Given the description of an element on the screen output the (x, y) to click on. 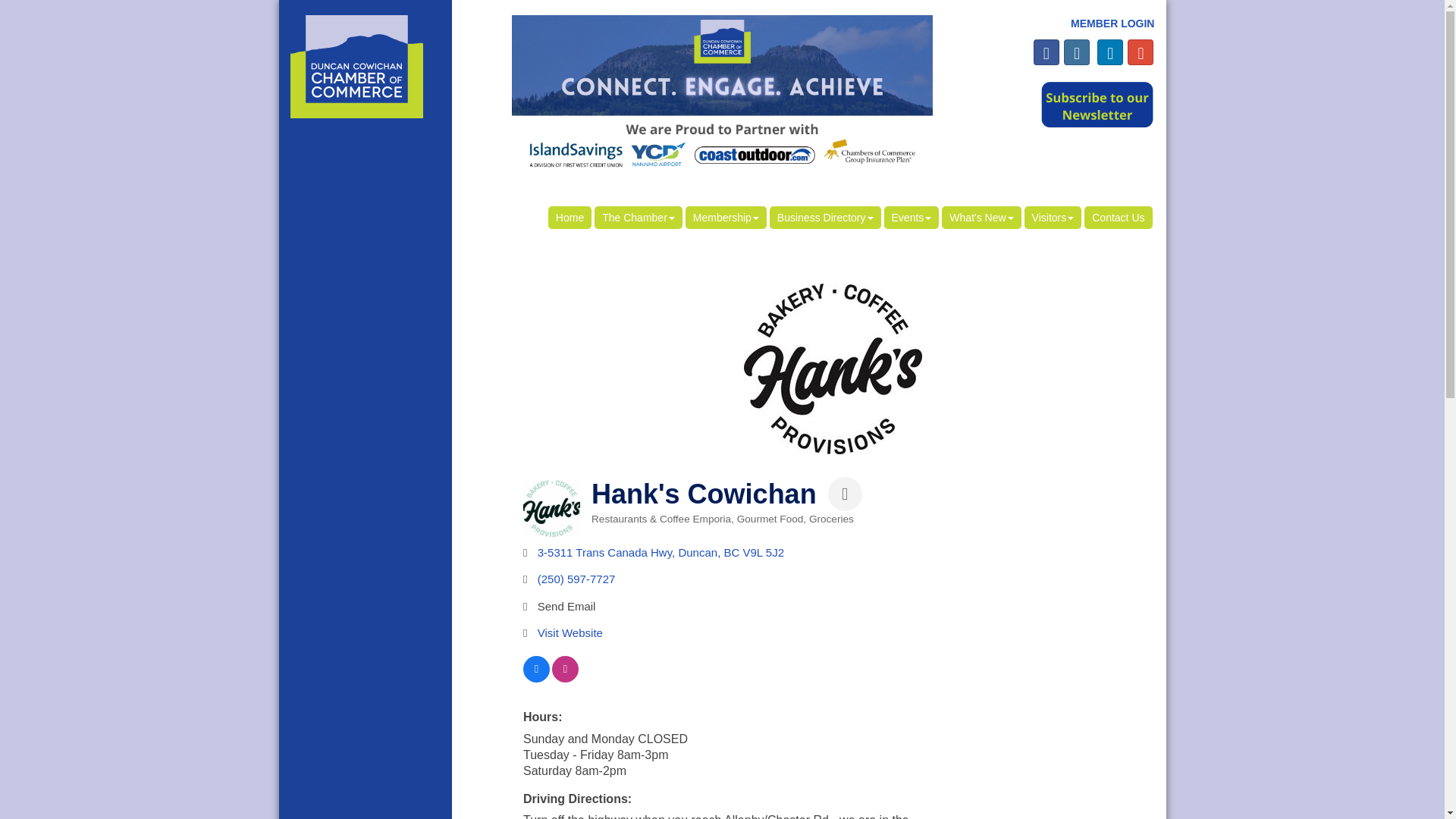
View on Facebook (536, 677)
Icon Link (1109, 52)
Visitors (1053, 217)
Icon Link (1139, 52)
Membership (726, 217)
The Chamber (638, 217)
Hank's Cowichan (550, 508)
Home (569, 217)
View on Instagram (564, 677)
MEMBER LOGIN (1112, 22)
Icon Link (1046, 52)
Business Directory (825, 217)
Contact Us (1117, 217)
What's New (981, 217)
Events (911, 217)
